Given the description of an element on the screen output the (x, y) to click on. 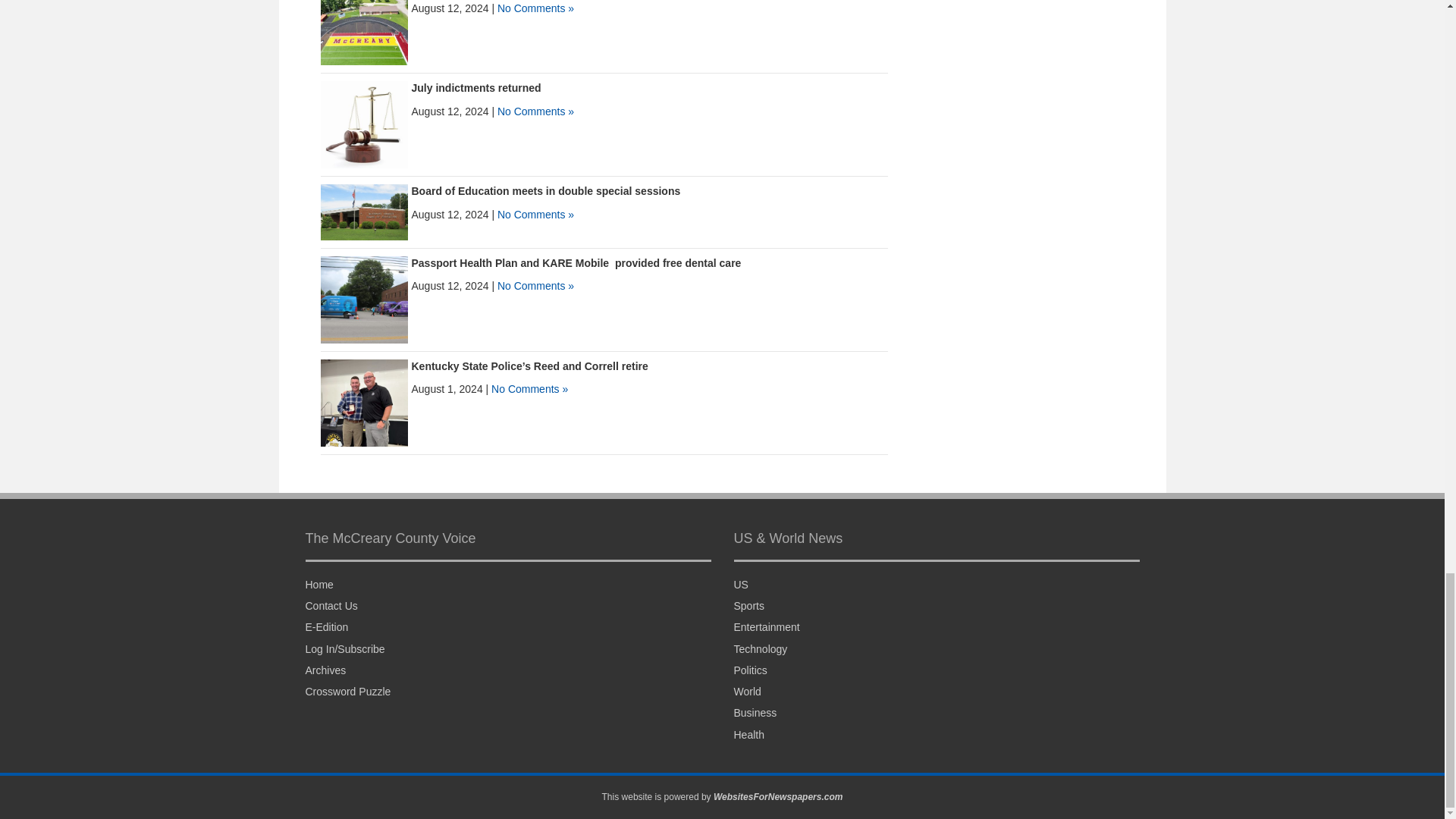
July indictments returned (475, 87)
Board of Education meets in double special sessions (363, 211)
July indictments returned (363, 123)
Are you ready for football? (363, 21)
Board of Education meets in double special sessions (544, 191)
